Given the description of an element on the screen output the (x, y) to click on. 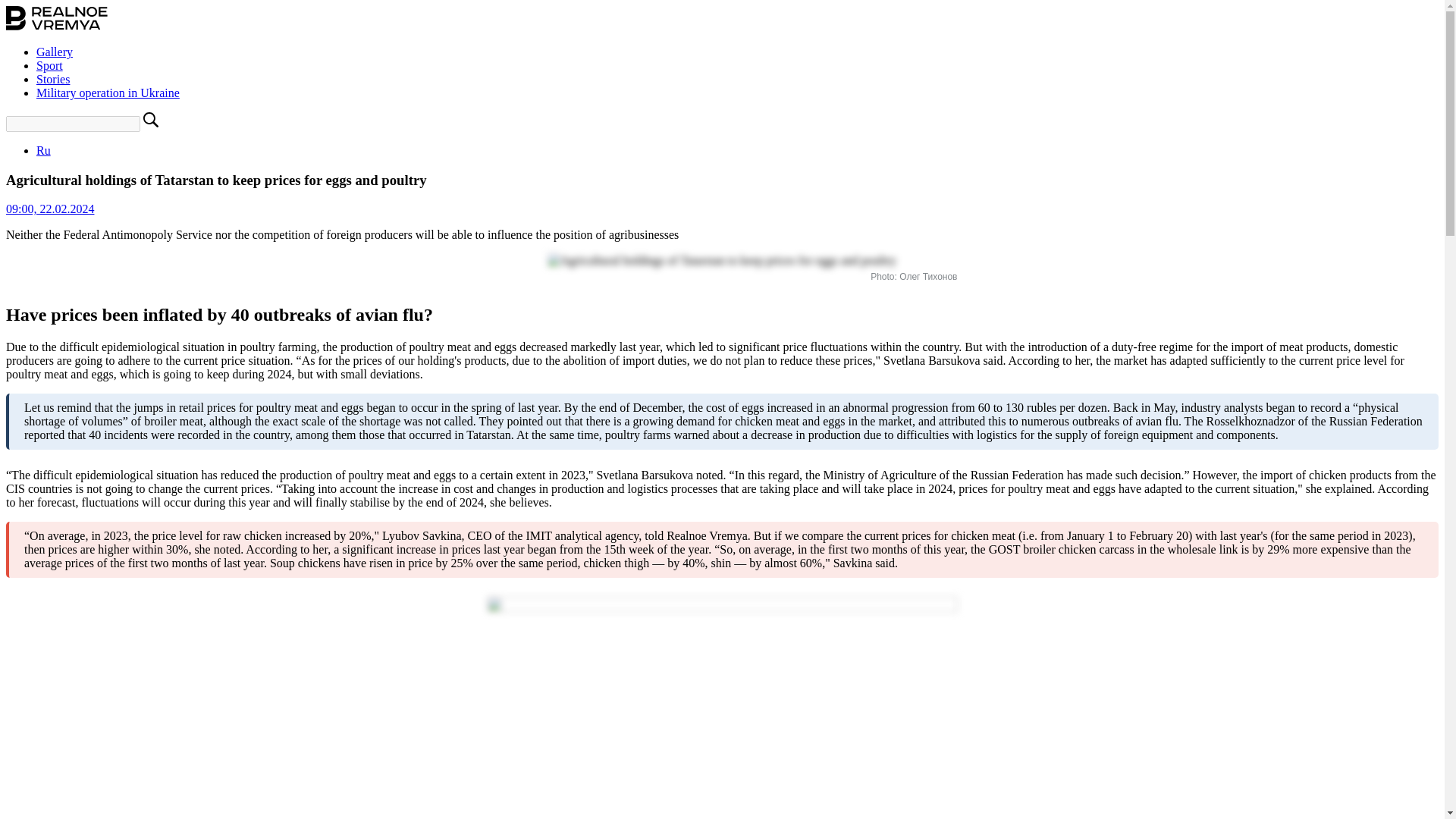
Sport (49, 65)
Military operation in Ukraine (107, 92)
09:00, 22.02.2024 (49, 208)
Ru (43, 150)
Gallery (54, 51)
Stories (52, 78)
